Given the description of an element on the screen output the (x, y) to click on. 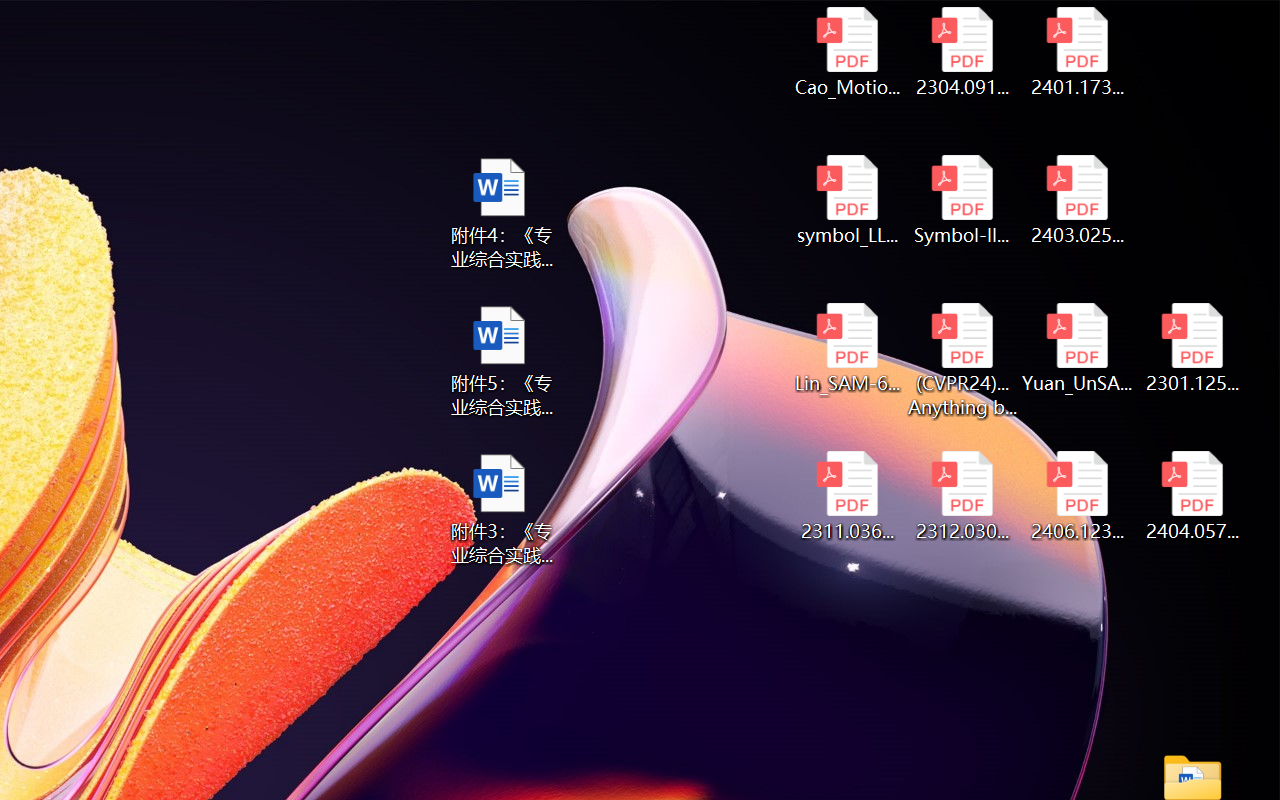
2312.03032v2.pdf (962, 496)
Symbol-llm-v2.pdf (962, 200)
symbol_LLM.pdf (846, 200)
(CVPR24)Matching Anything by Segmenting Anything.pdf (962, 360)
2304.09121v3.pdf (962, 52)
2301.12597v3.pdf (1192, 348)
2406.12373v2.pdf (1077, 496)
2404.05719v1.pdf (1192, 496)
2311.03658v2.pdf (846, 496)
